Given the description of an element on the screen output the (x, y) to click on. 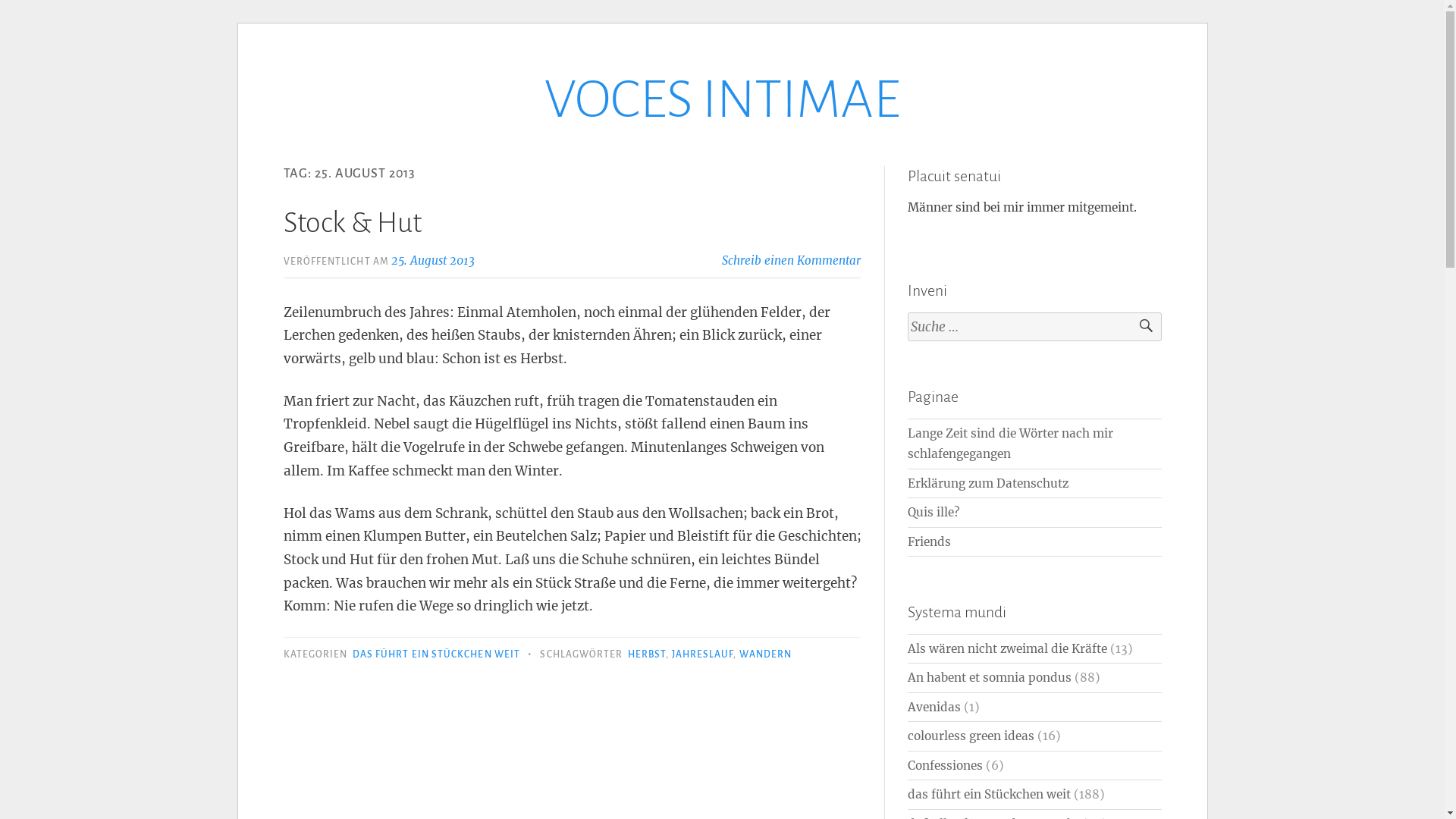
25. August 2013 Element type: text (432, 260)
Avenidas Element type: text (933, 706)
WANDERN Element type: text (765, 654)
Zum Inhalt springen Element type: text (236, 68)
Suche Element type: text (1138, 327)
HERBST Element type: text (646, 654)
Friends Element type: text (928, 541)
Schreib einen Kommentar Element type: text (790, 260)
colourless green ideas Element type: text (970, 735)
Stock & Hut Element type: text (352, 222)
An habent et somnia pondus Element type: text (989, 677)
VOCES INTIMAE Element type: text (722, 99)
Quis ille? Element type: text (933, 512)
JAHRESLAUF Element type: text (702, 654)
Confessiones Element type: text (944, 765)
